Given the description of an element on the screen output the (x, y) to click on. 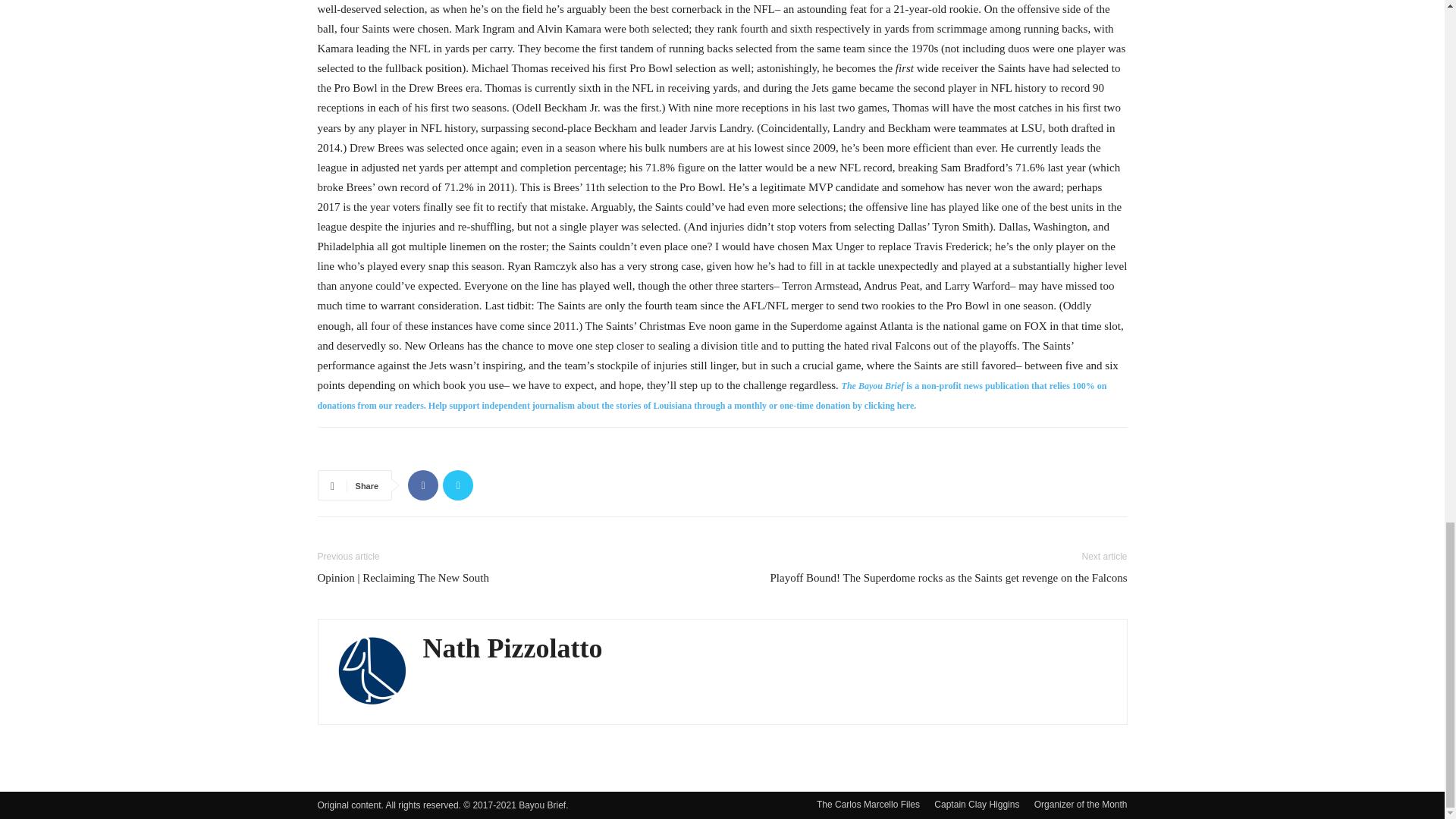
Organizer of the Month (1079, 804)
Nath Pizzolatto (512, 648)
The Carlos Marcello Files (868, 804)
Facebook (422, 485)
Twitter (457, 485)
Captain Clay Higgins (976, 804)
bottomFacebookLike (430, 451)
